Given the description of an element on the screen output the (x, y) to click on. 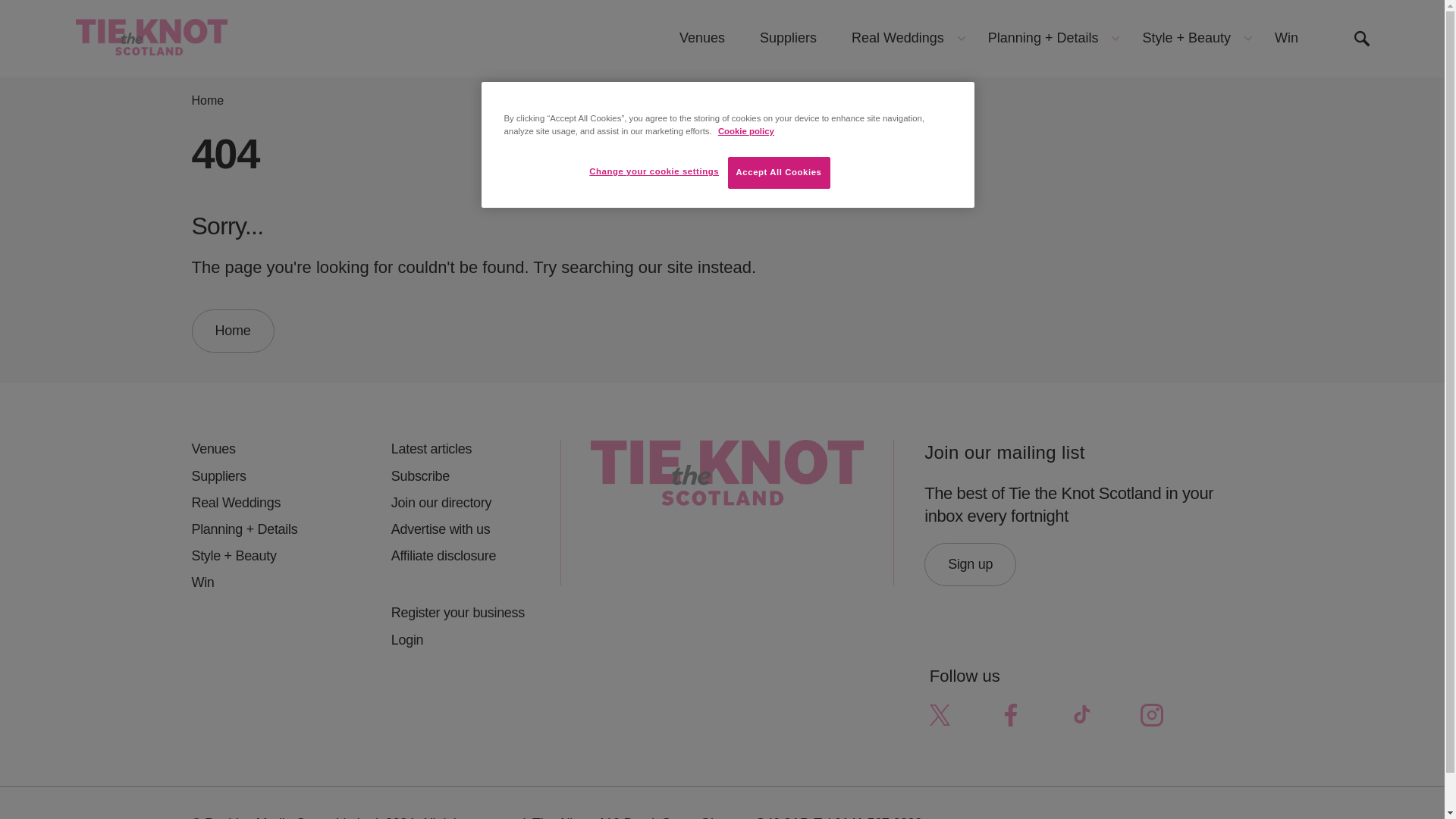
Suppliers (260, 476)
Home (207, 100)
Real Weddings (902, 38)
Suppliers (788, 38)
Real Weddings (260, 502)
Win (1286, 38)
Venues (260, 448)
Home (231, 330)
Venues (702, 38)
